Given the description of an element on the screen output the (x, y) to click on. 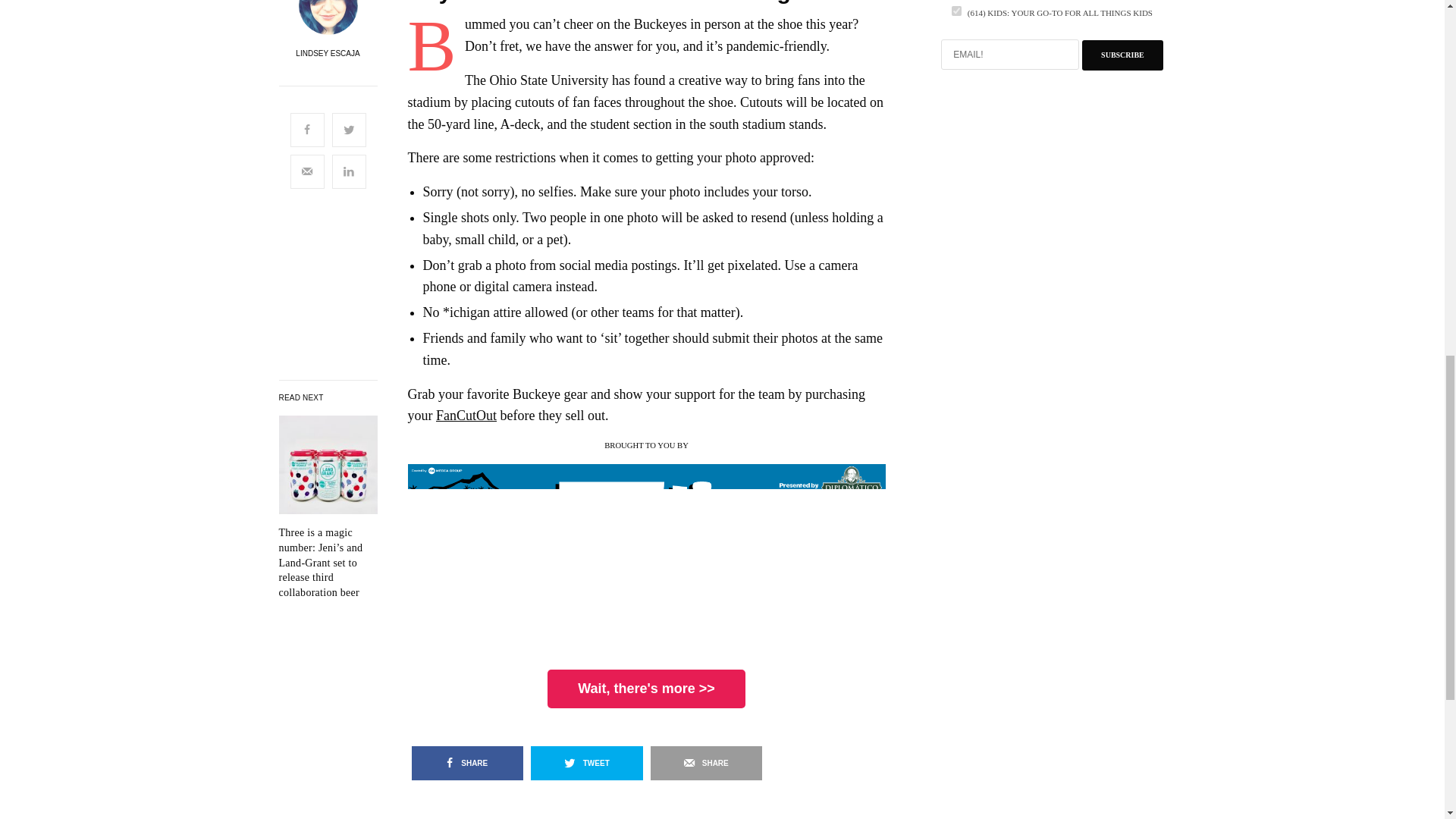
Are you a total cut-up? (328, 562)
Subscribe (1122, 55)
47d60d12c6 (956, 10)
